Given the description of an element on the screen output the (x, y) to click on. 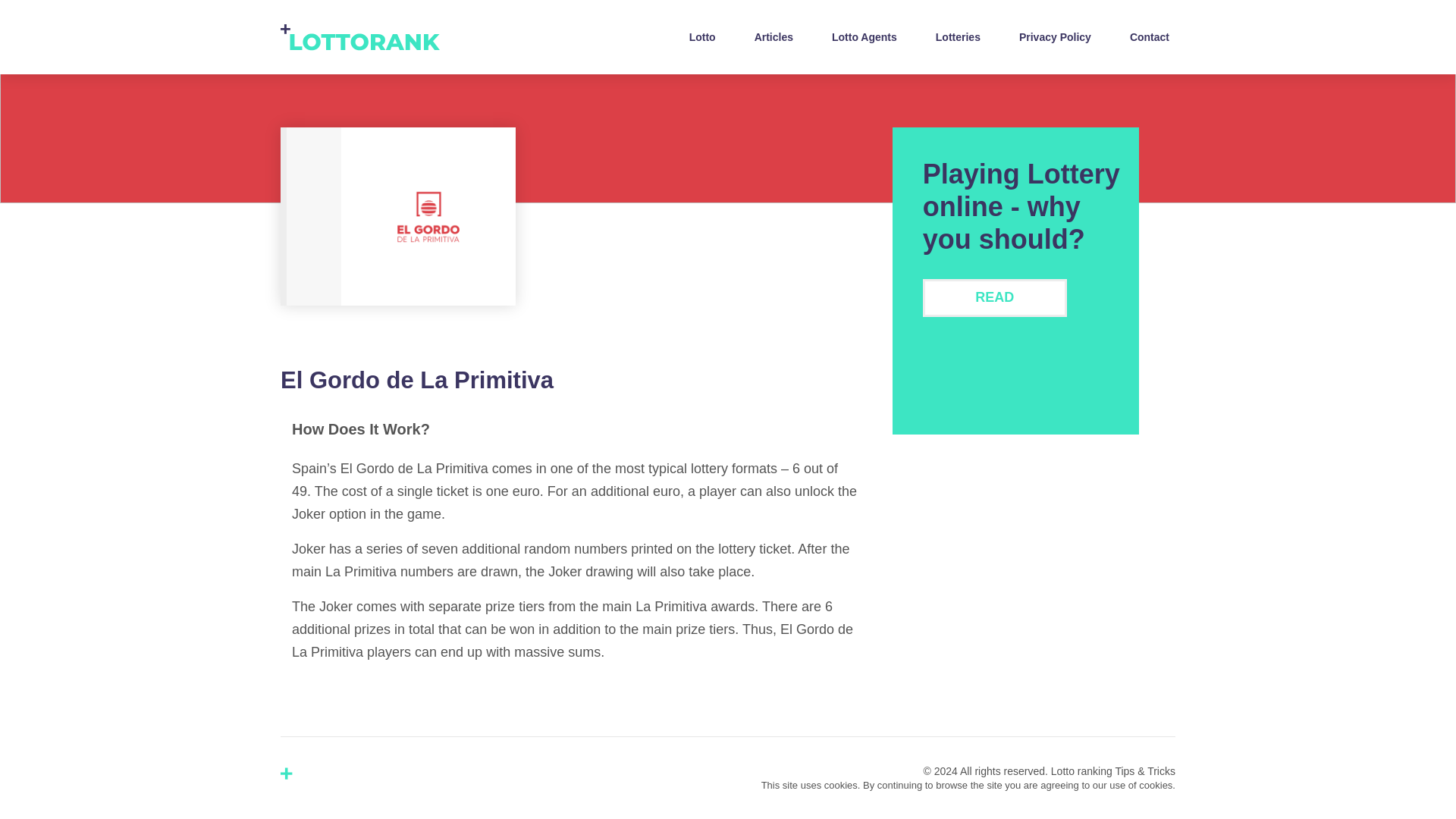
Lotteries (958, 36)
Privacy Policy (1055, 36)
Articles (773, 36)
Lotto Agents (863, 36)
READ (995, 297)
Contact (1149, 36)
Lotto (702, 36)
